Given the description of an element on the screen output the (x, y) to click on. 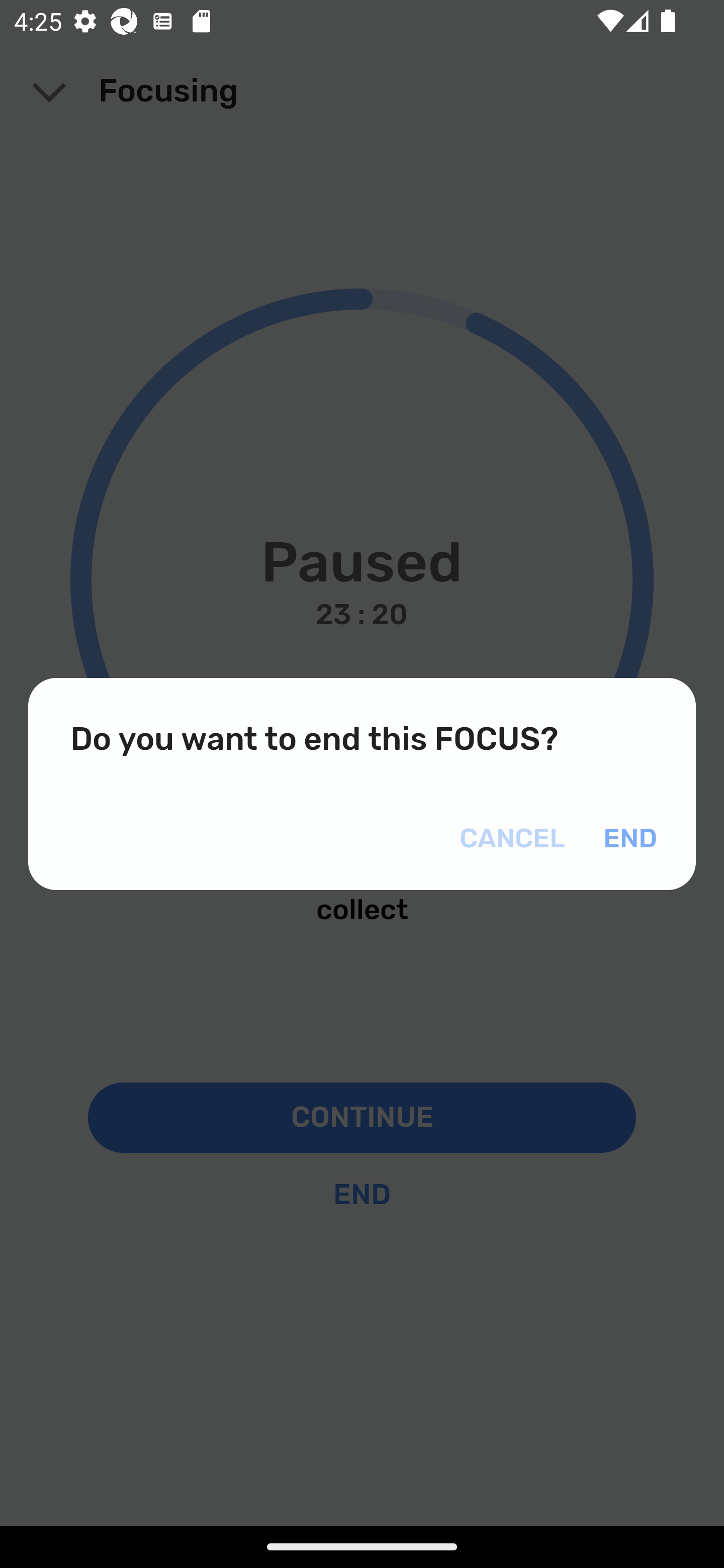
CANCEL (515, 838)
END (626, 838)
